Given the description of an element on the screen output the (x, y) to click on. 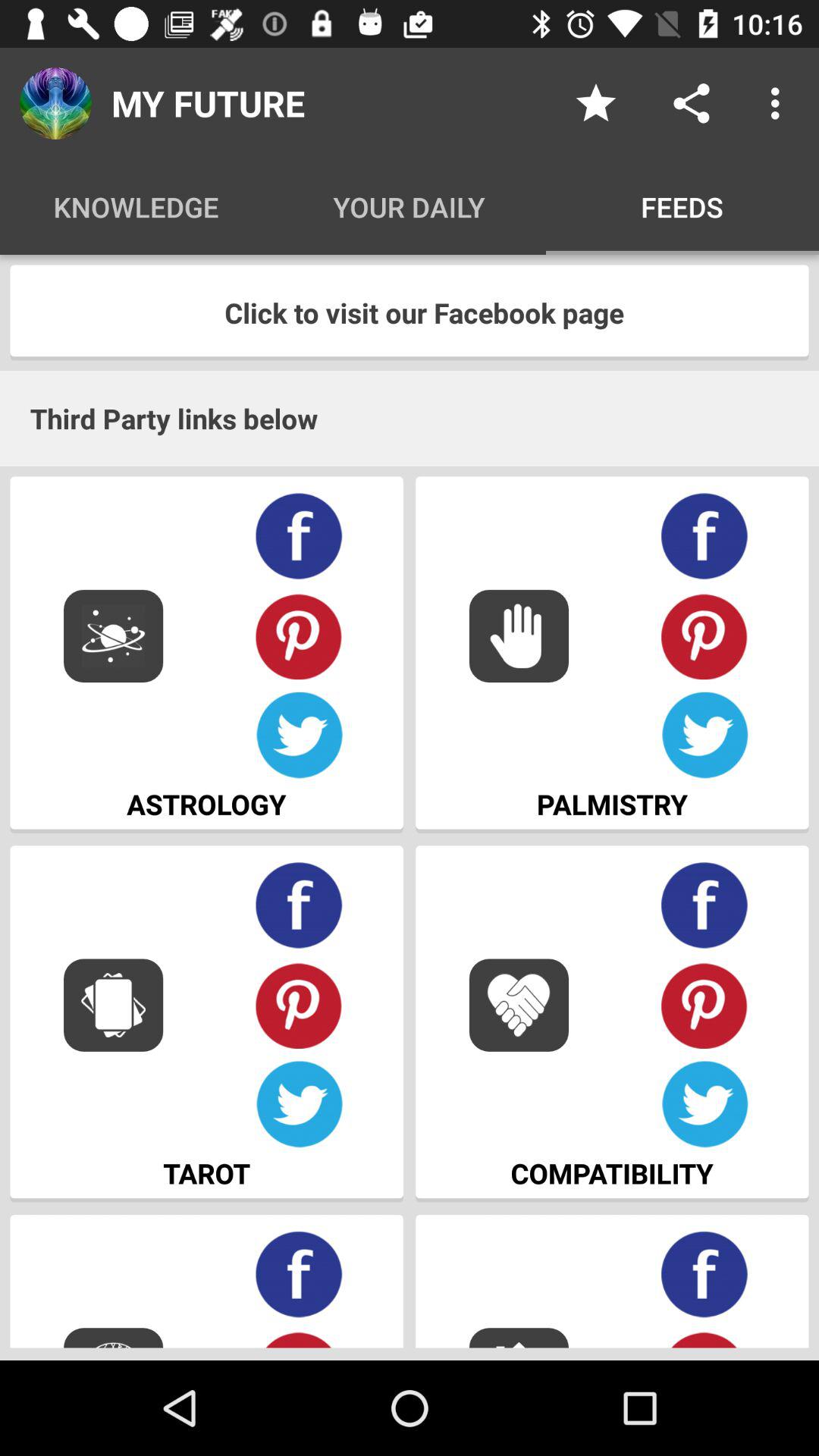
go to the pinterest app (299, 1005)
